Given the description of an element on the screen output the (x, y) to click on. 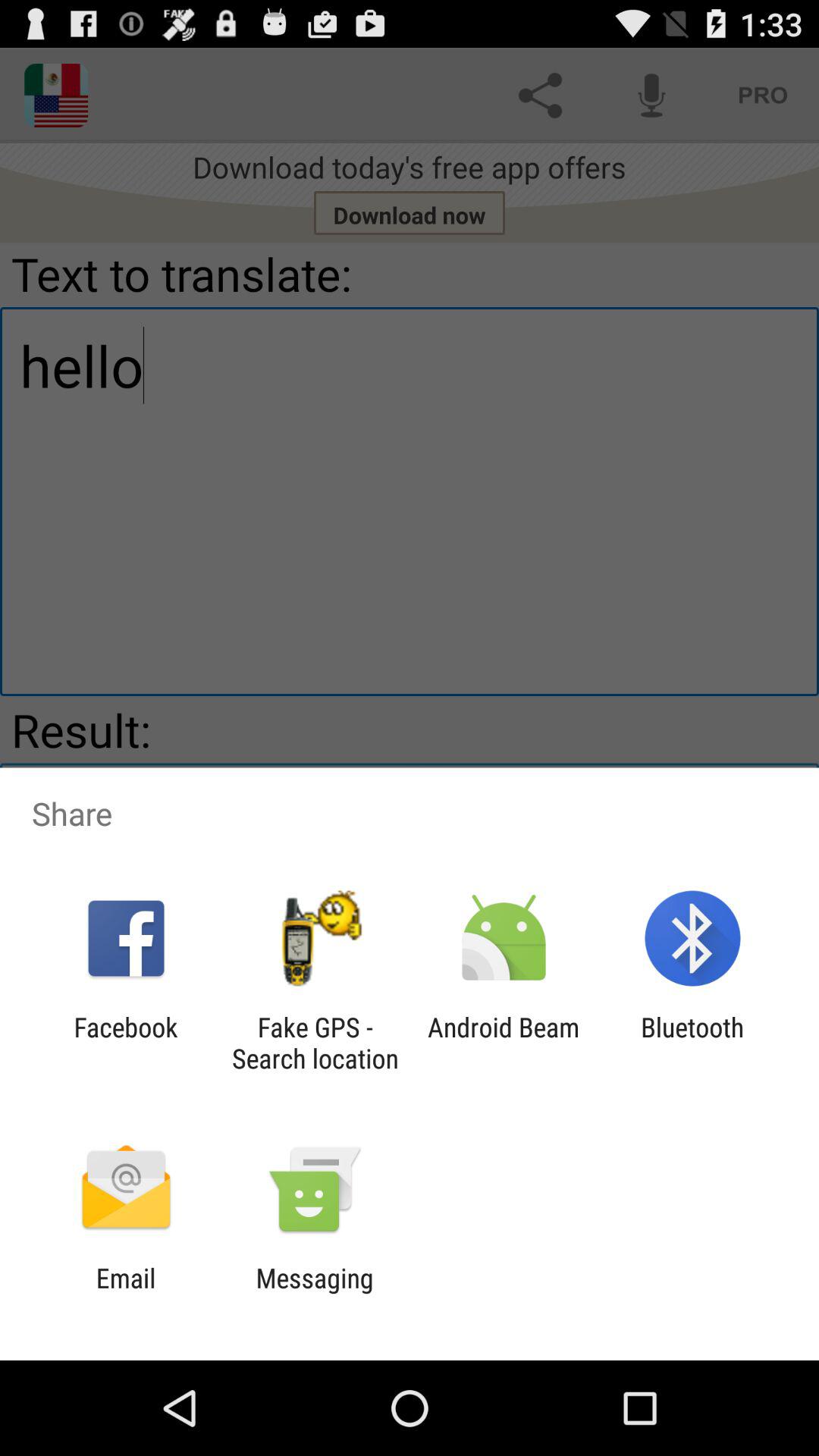
choose app next to fake gps search item (503, 1042)
